Given the description of an element on the screen output the (x, y) to click on. 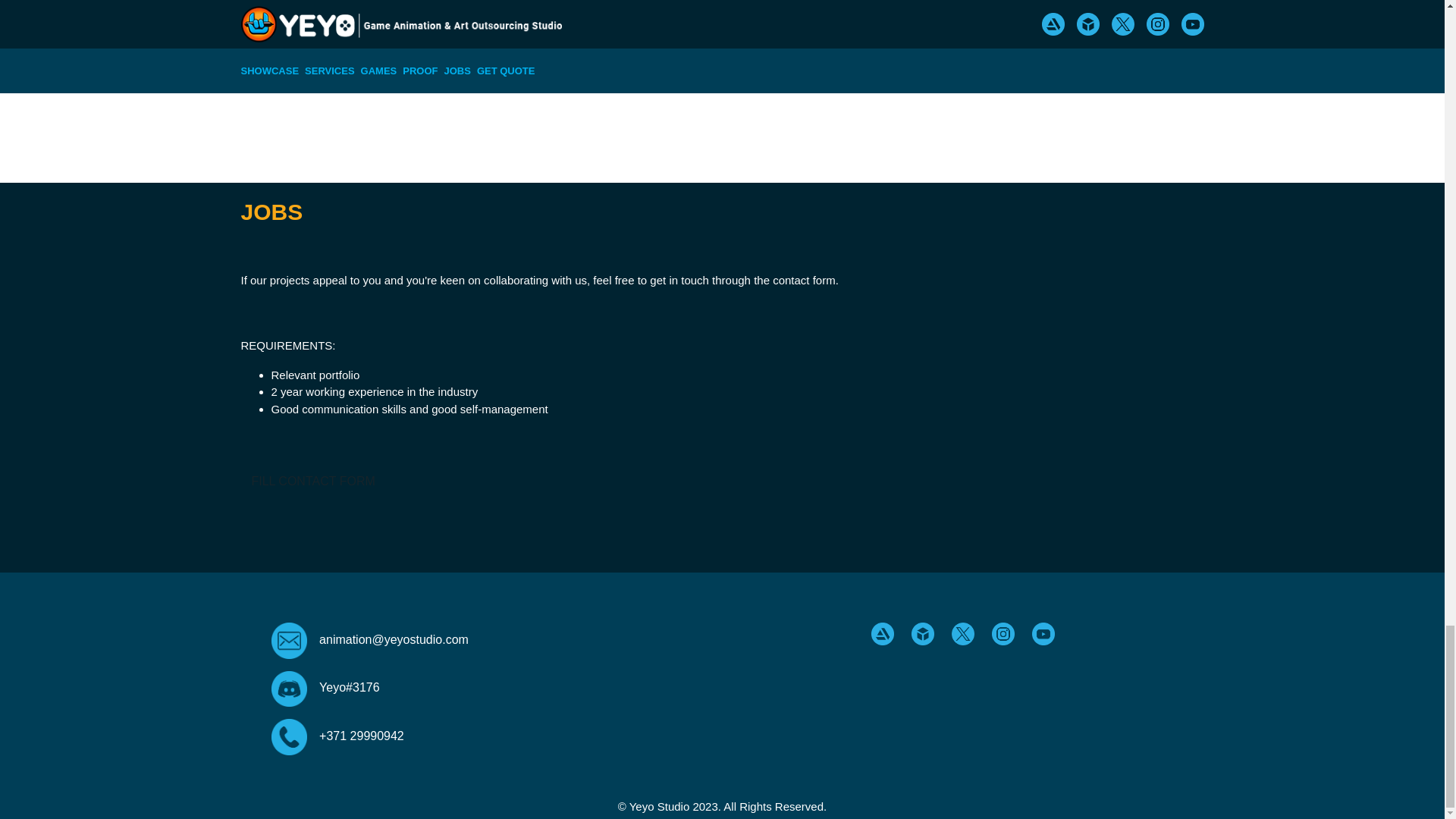
FILL CONTACT FORM (313, 461)
FILL CONTACT FORM (313, 481)
